Given the description of an element on the screen output the (x, y) to click on. 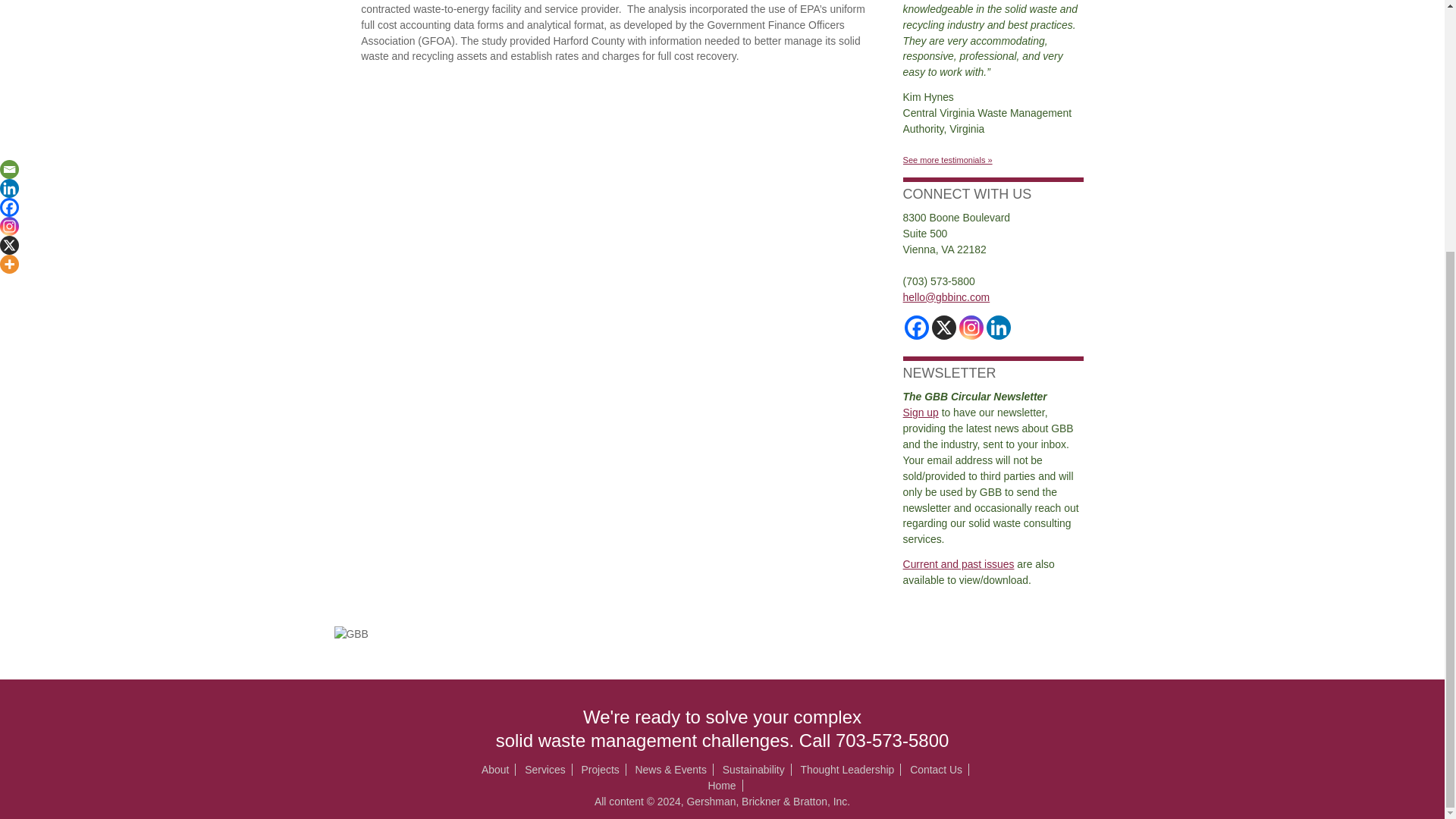
Instagram (971, 327)
Facebook (916, 327)
Linkedin Company (998, 327)
X (943, 327)
